Given the description of an element on the screen output the (x, y) to click on. 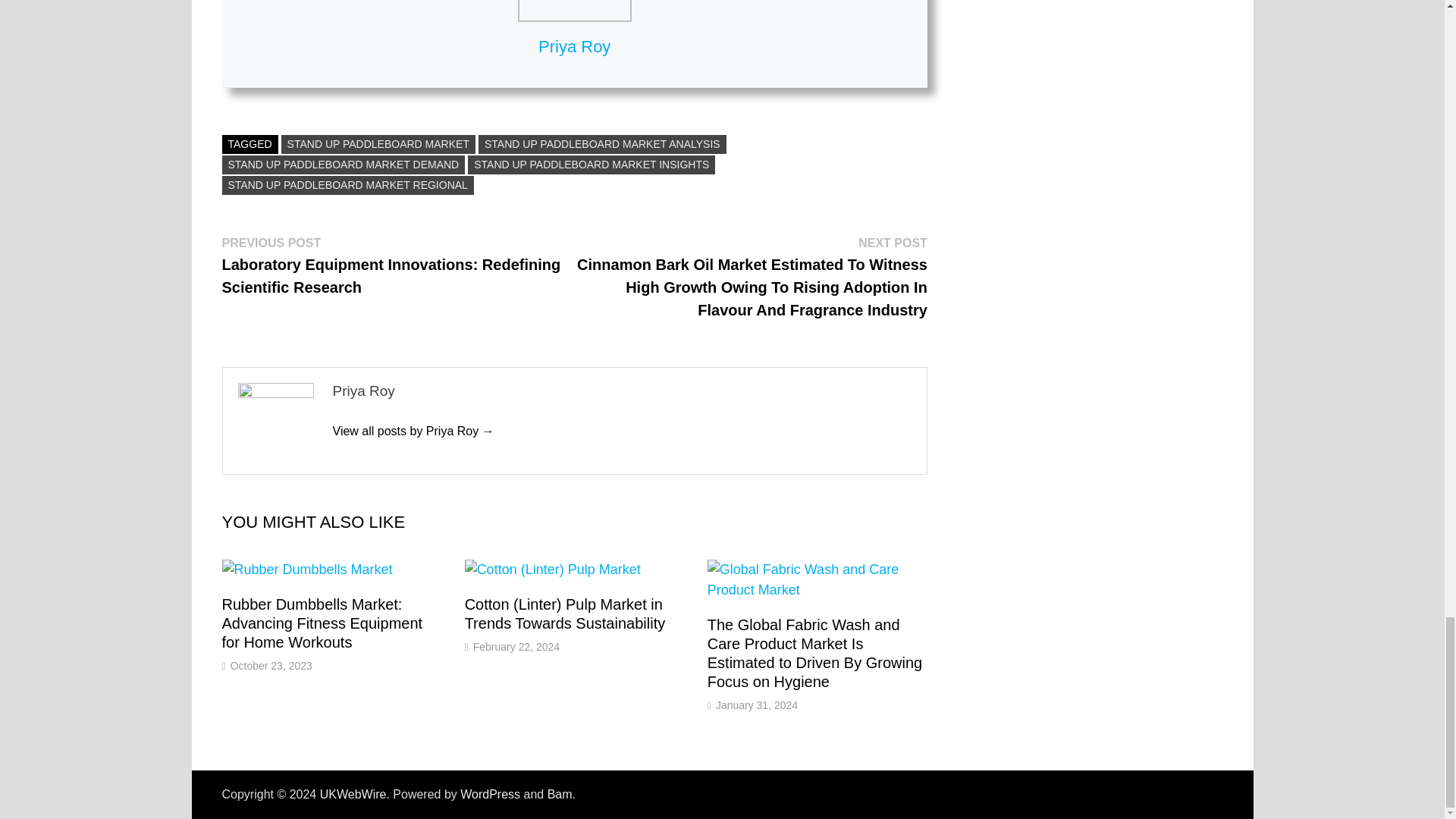
UKWebWire (353, 793)
Priya Roy (412, 431)
